Given the description of an element on the screen output the (x, y) to click on. 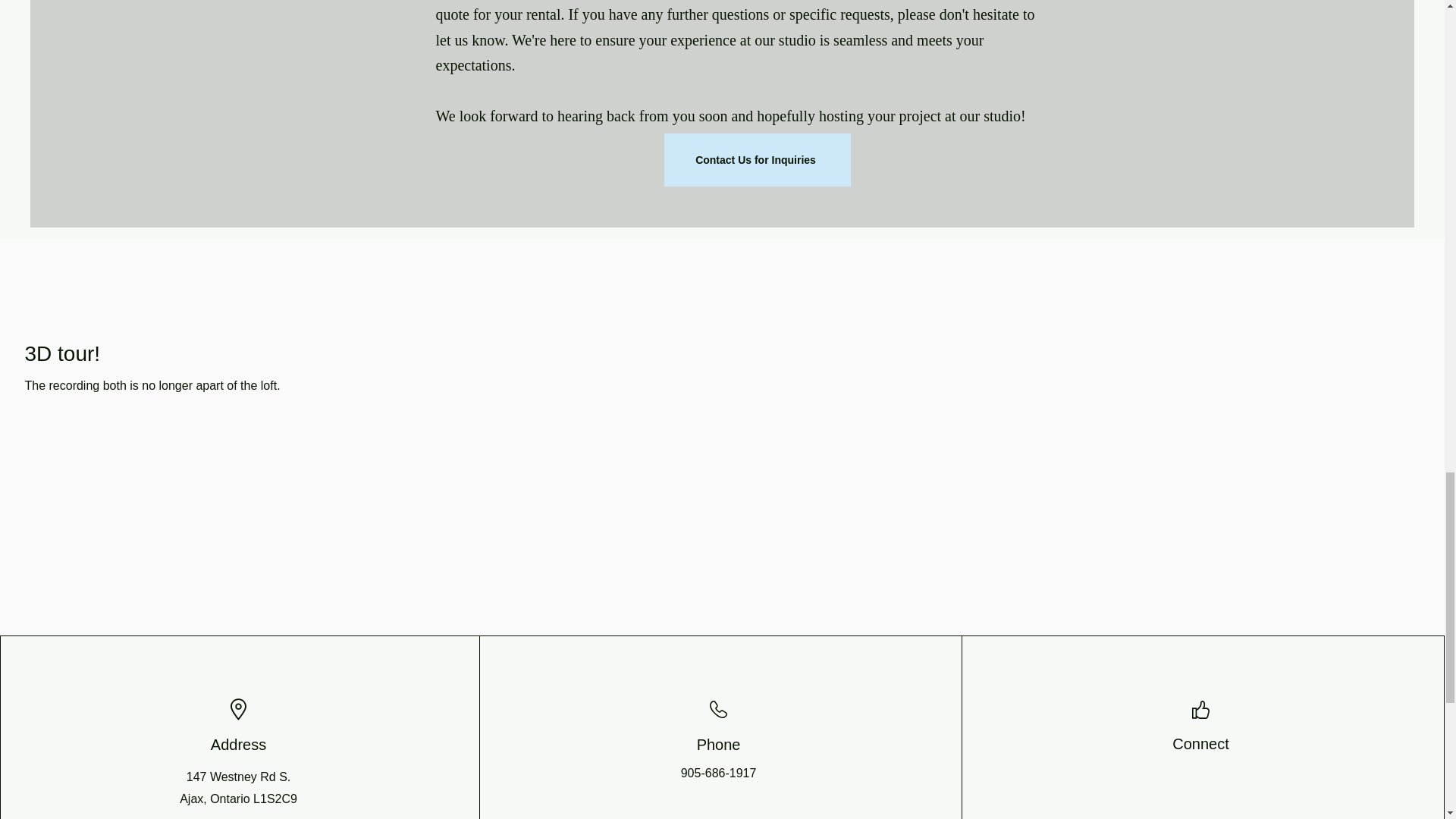
Contact Us for Inquiries (756, 159)
